Given the description of an element on the screen output the (x, y) to click on. 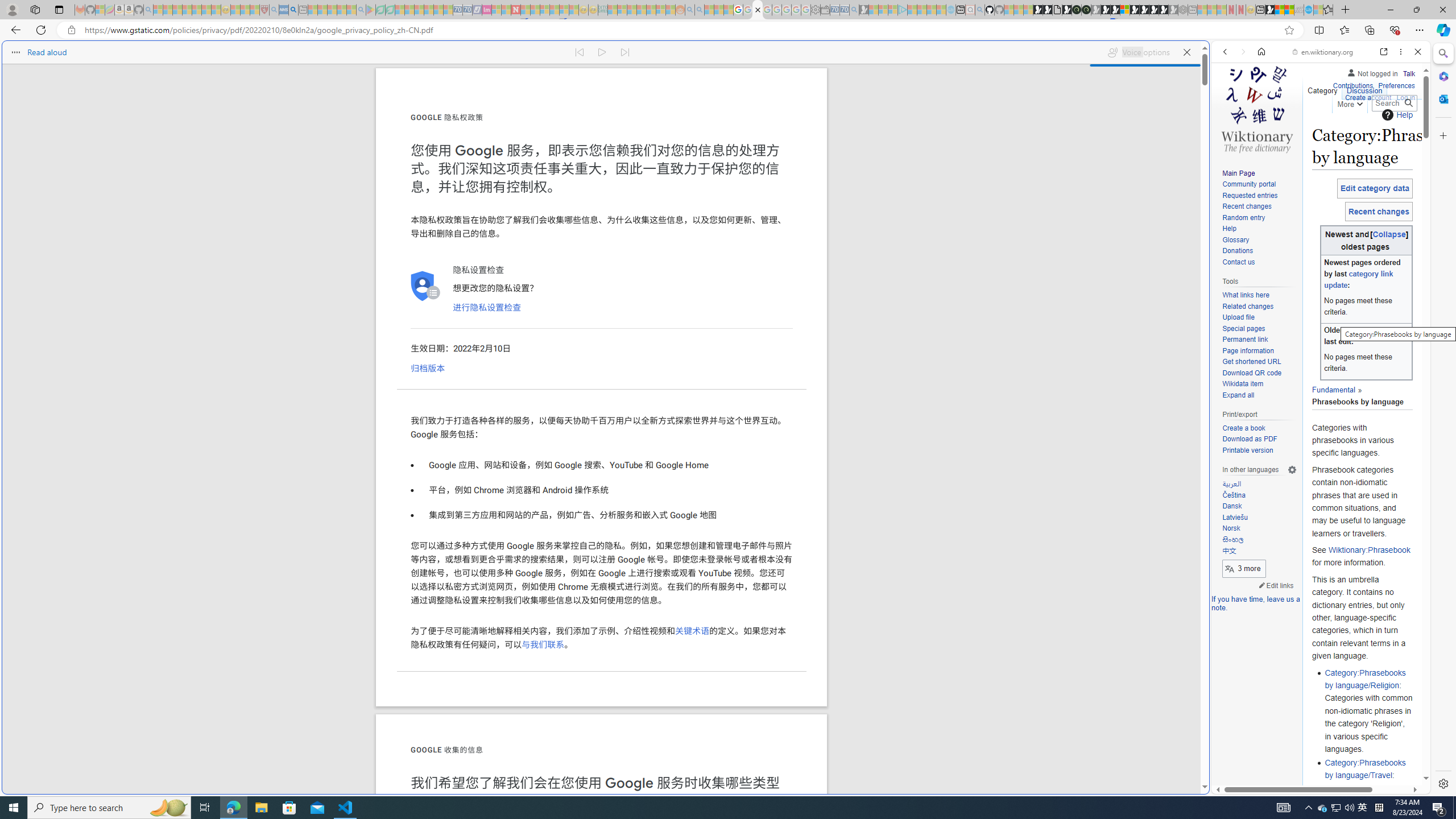
Visit the main page (1257, 108)
Permanent link (1259, 339)
Glossary (1235, 239)
Discussion (1363, 87)
Get shortened URL (1259, 361)
